Given the description of an element on the screen output the (x, y) to click on. 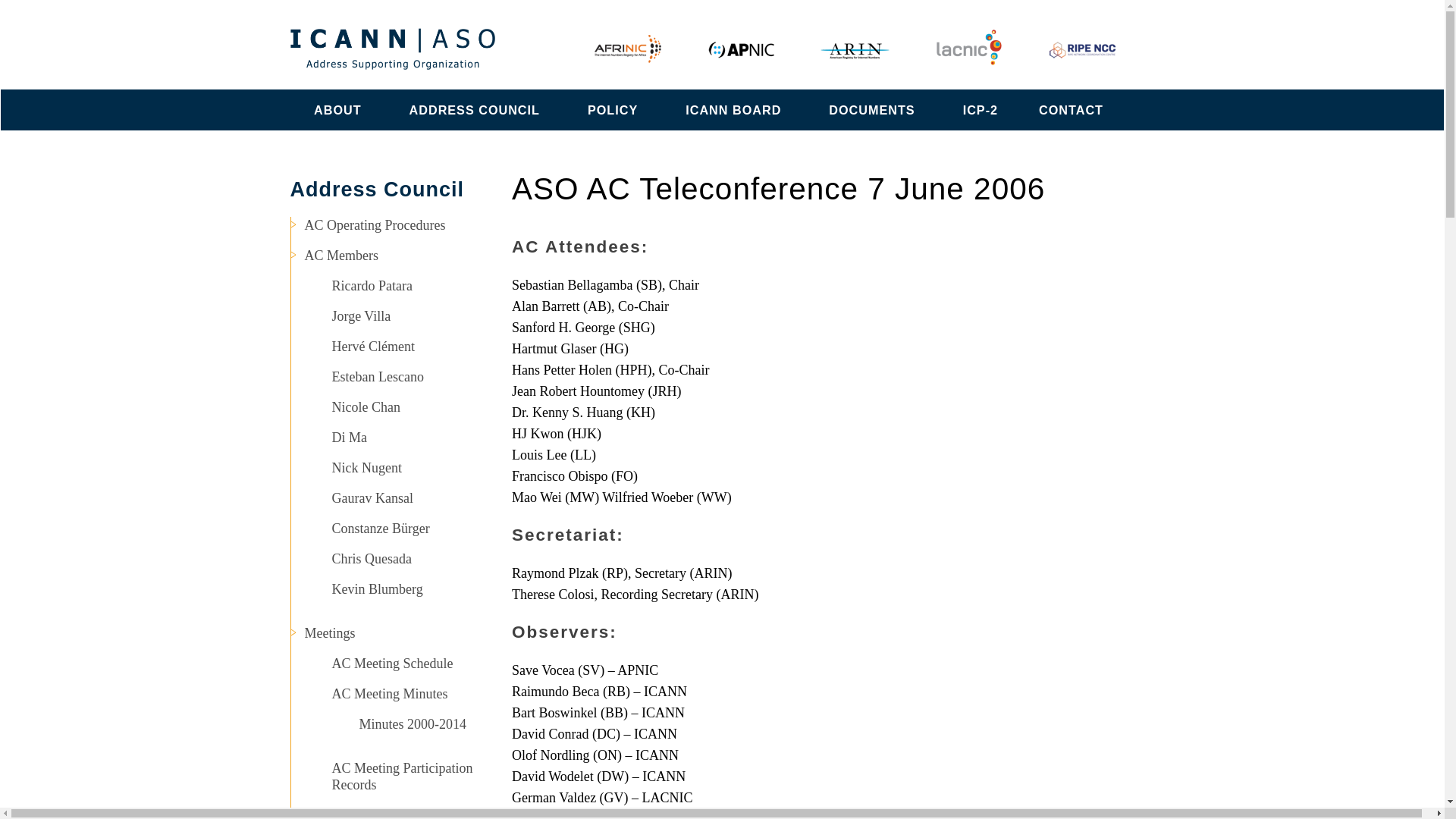
CONTACT (1071, 109)
ICANN Board (733, 109)
Policy (612, 109)
POLICY (612, 109)
ICP-2 (980, 109)
Address Council (474, 109)
About (337, 109)
ADDRESS COUNCIL (474, 109)
DOCUMENTS (872, 109)
ABOUT (337, 109)
ICANN BOARD (733, 109)
